Given the description of an element on the screen output the (x, y) to click on. 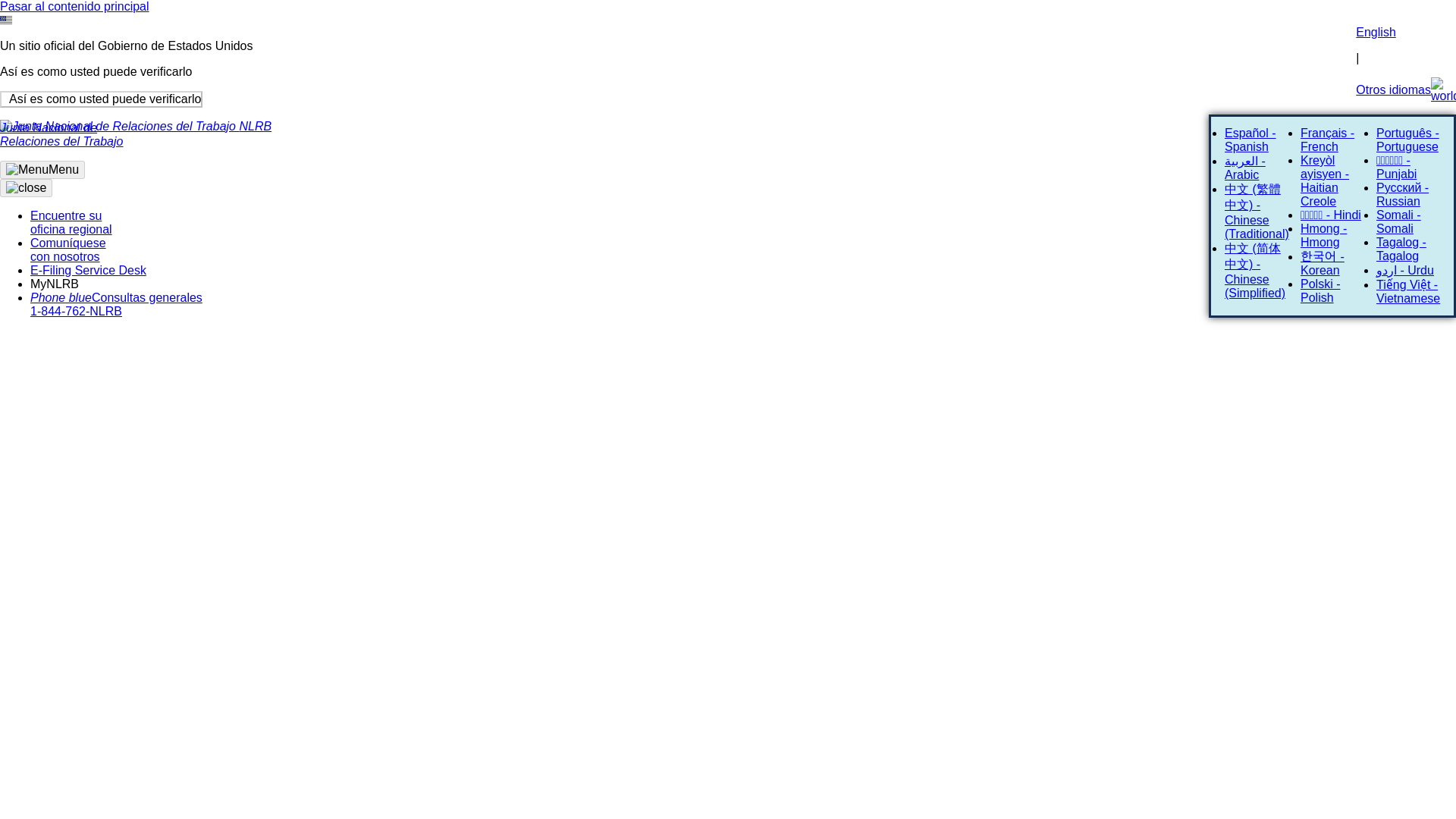
Junta Nacional de Relaciones del Trabajo (119, 125)
Somali - Somali (1398, 221)
English (1374, 31)
Tagalog - Tagalog (1400, 248)
Polski - Polish (1319, 290)
Tagalog - Tagalog (1400, 248)
E-Filing Service Desk (88, 269)
MyNLRB (54, 283)
Menu (135, 139)
